Given the description of an element on the screen output the (x, y) to click on. 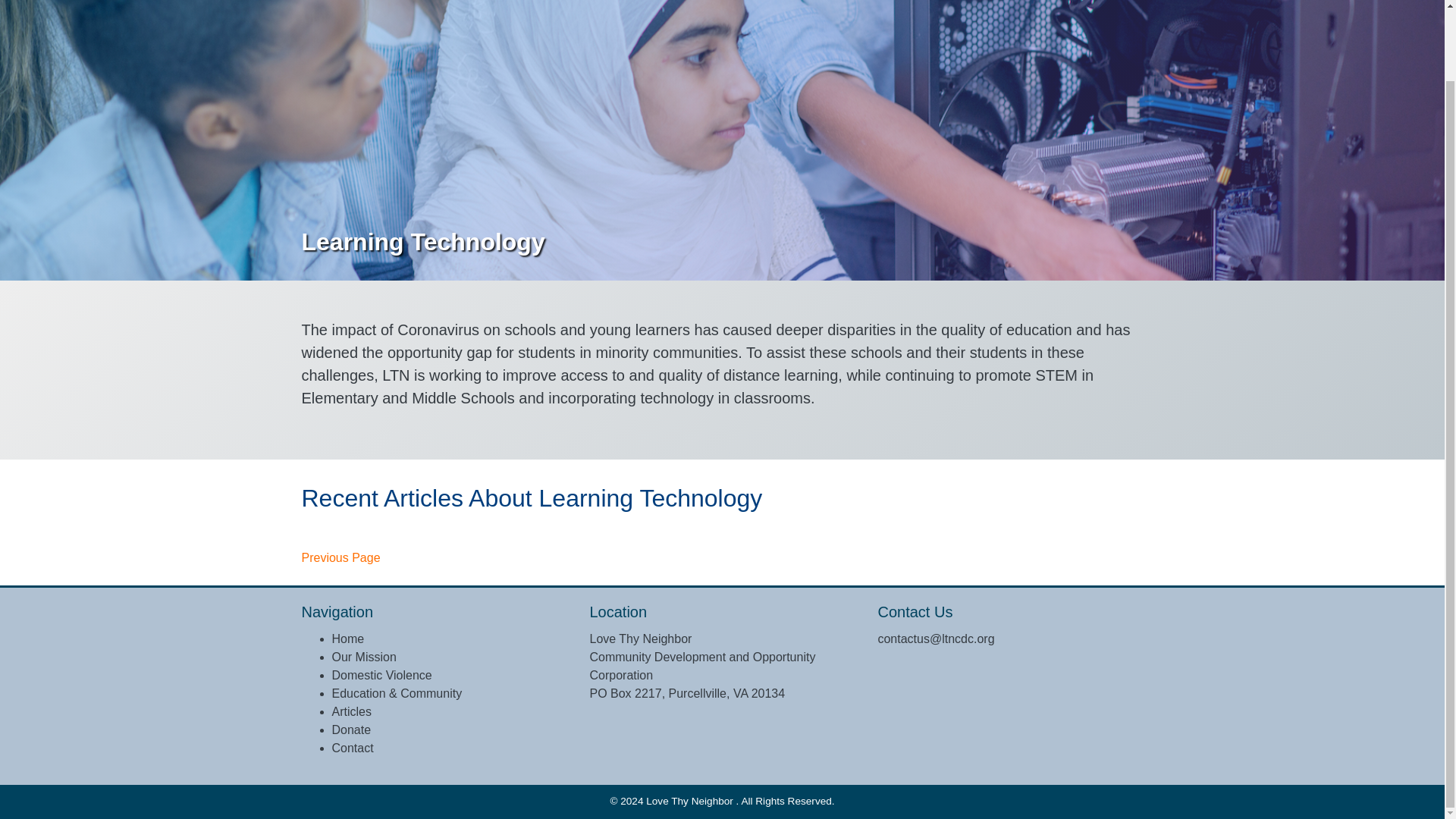
Previous Page (340, 557)
Home (348, 638)
Articles (351, 711)
Donate (351, 729)
Contact (352, 748)
Domestic Violence (381, 675)
Our Mission (363, 656)
